Given the description of an element on the screen output the (x, y) to click on. 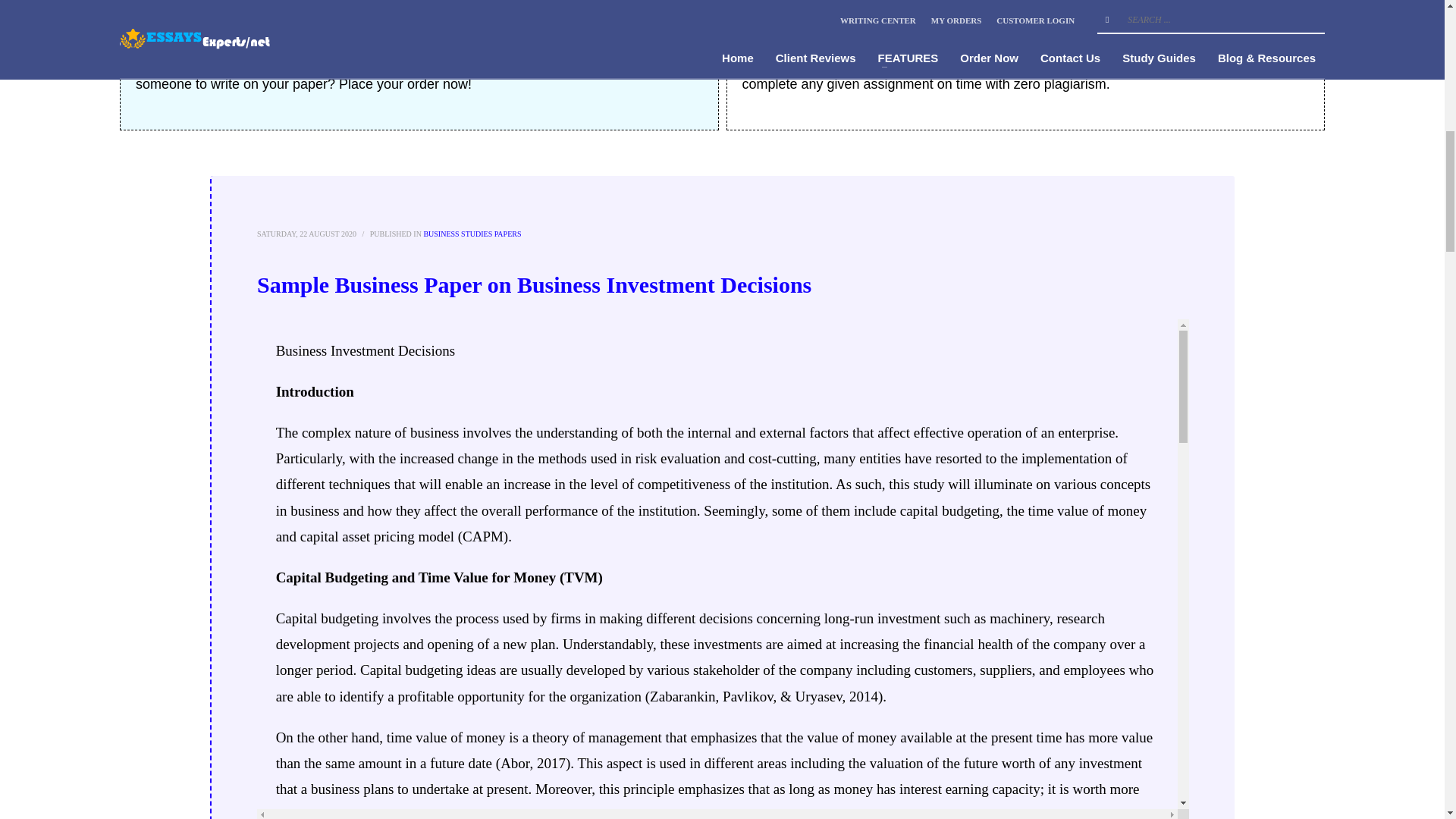
BUSINESS STUDIES PAPERS (472, 234)
